Given the description of an element on the screen output the (x, y) to click on. 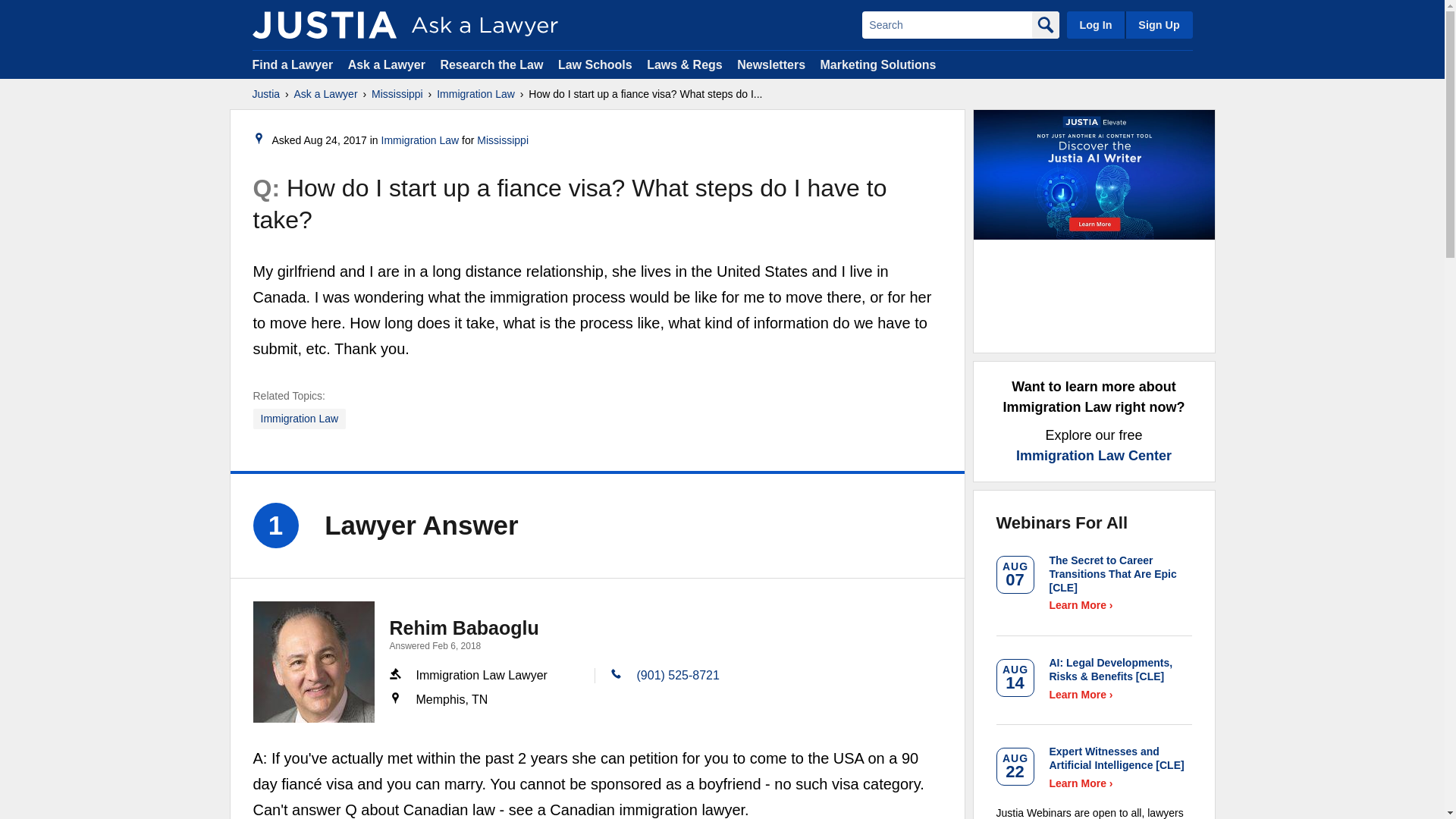
Search (945, 24)
2017-08-24T16:34:33-07:00 (335, 140)
Immigration Law (420, 140)
Justia (265, 93)
Research the Law (491, 64)
Justia (323, 24)
Immigration Law (299, 418)
Newsletters (770, 64)
Immigration Law (475, 93)
Log In (1094, 24)
Sign Up (1158, 24)
Mississippi (397, 93)
Ask a Lawyer (326, 93)
Law Schools (594, 64)
Rehim Babaoglu (313, 661)
